Given the description of an element on the screen output the (x, y) to click on. 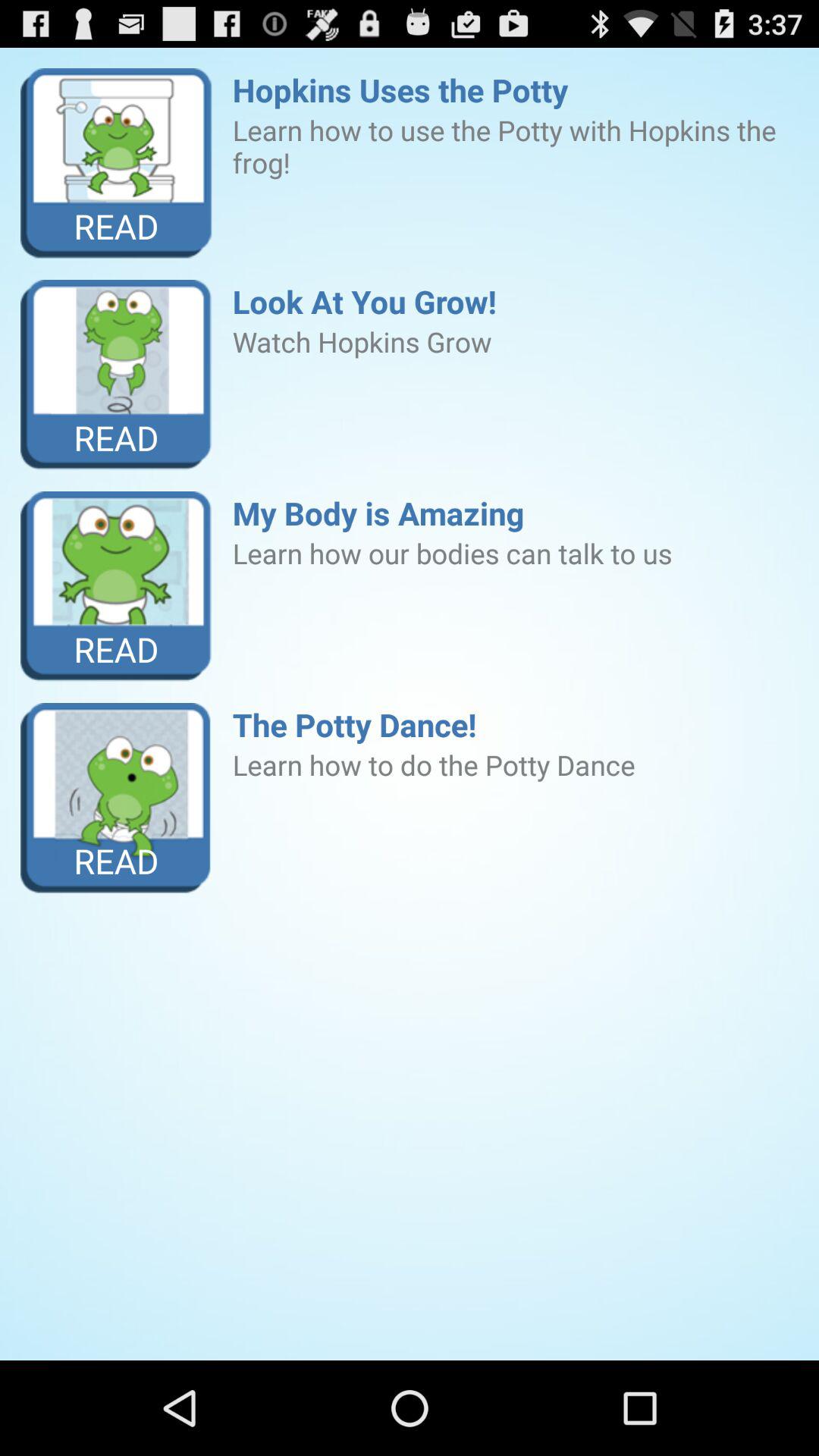
choose item next to the look at you icon (116, 374)
